Given the description of an element on the screen output the (x, y) to click on. 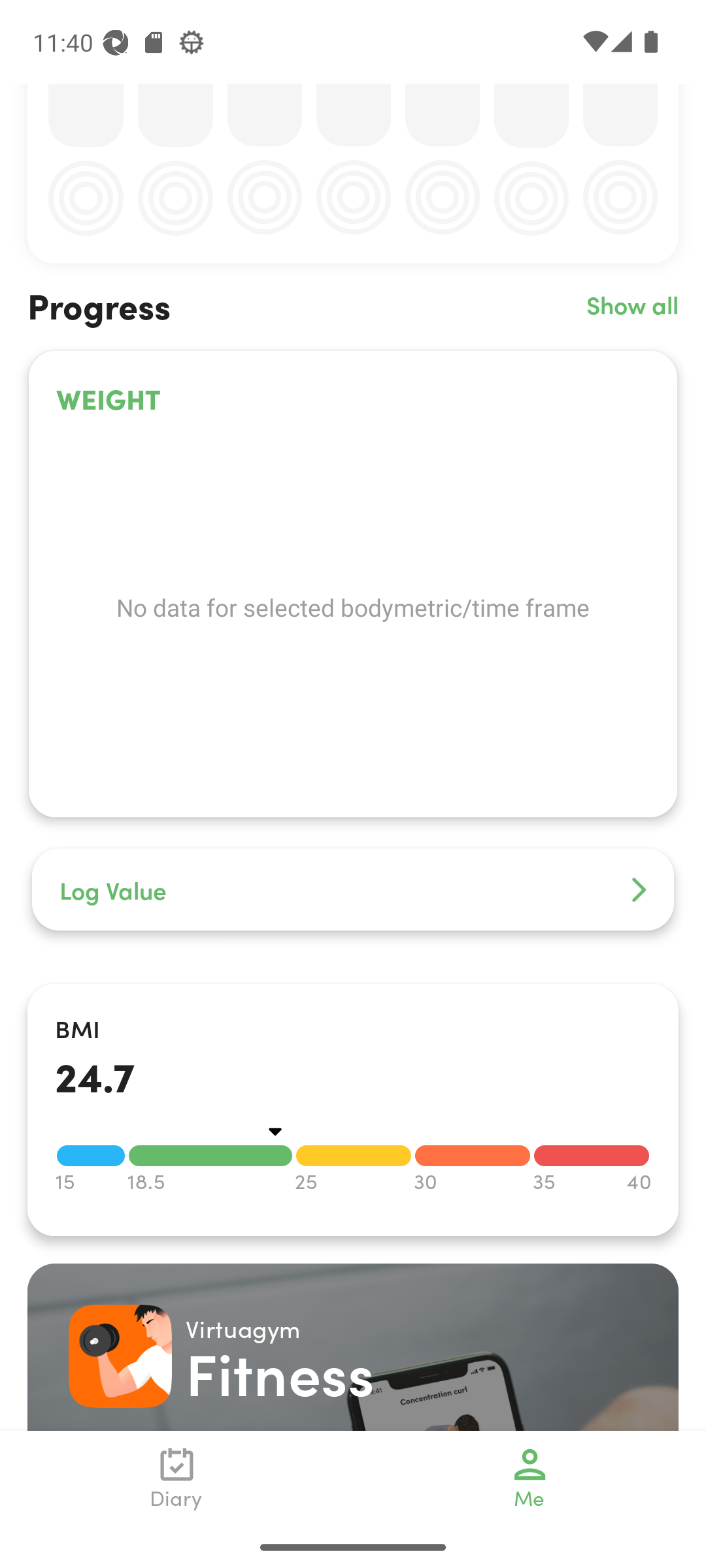
Progress Show all WEIGHT Log Value (353, 623)
Log Value (352, 889)
Diary navigation_icon (176, 1478)
